Given the description of an element on the screen output the (x, y) to click on. 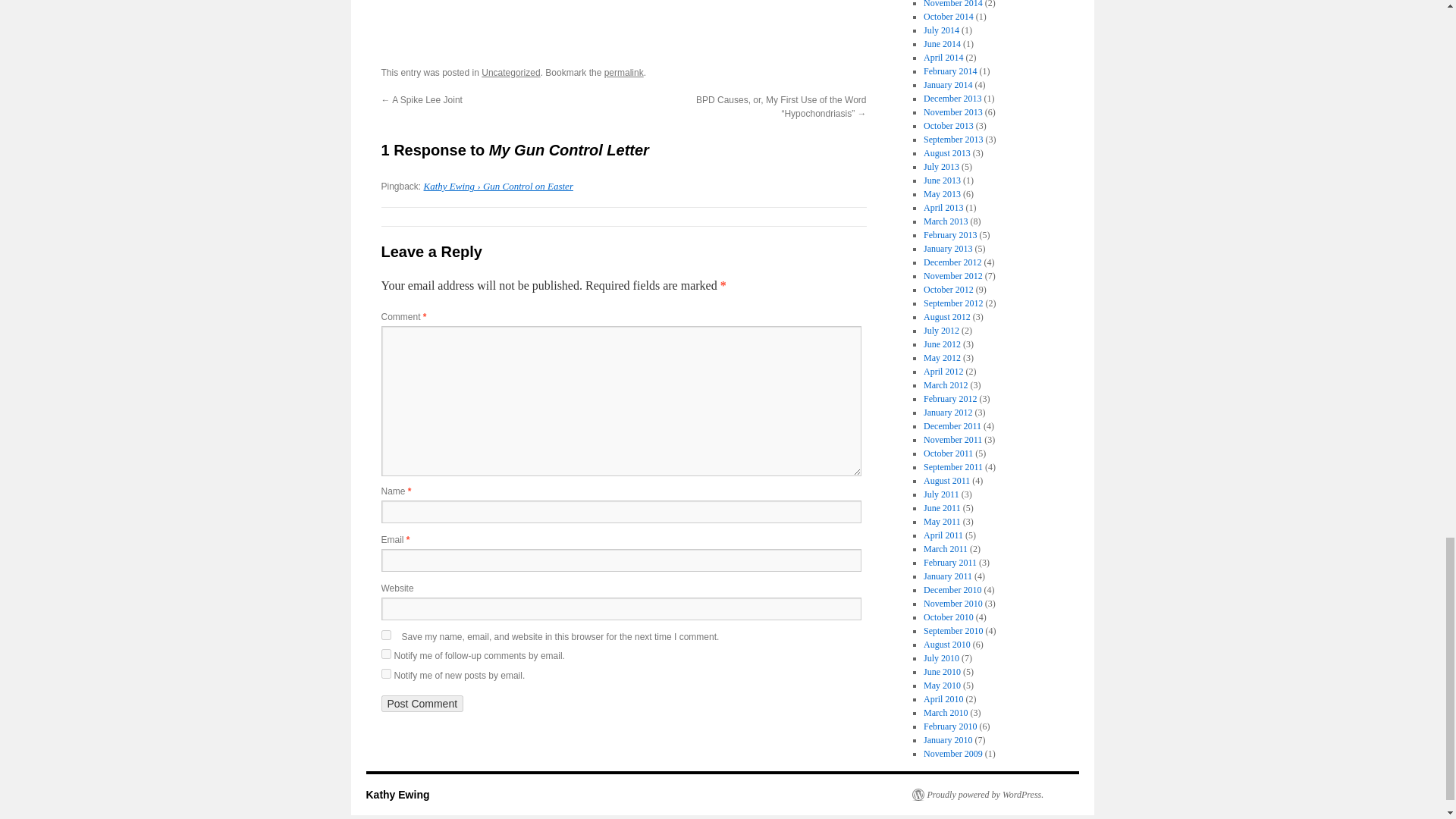
Permalink to My Gun Control Letter (623, 72)
Semantic Personal Publishing Platform (977, 794)
Post Comment (421, 703)
subscribe (385, 673)
subscribe (385, 654)
yes (385, 634)
Post Comment (421, 703)
permalink (623, 72)
Uncategorized (510, 72)
Kathy Ewing (397, 794)
